Given the description of an element on the screen output the (x, y) to click on. 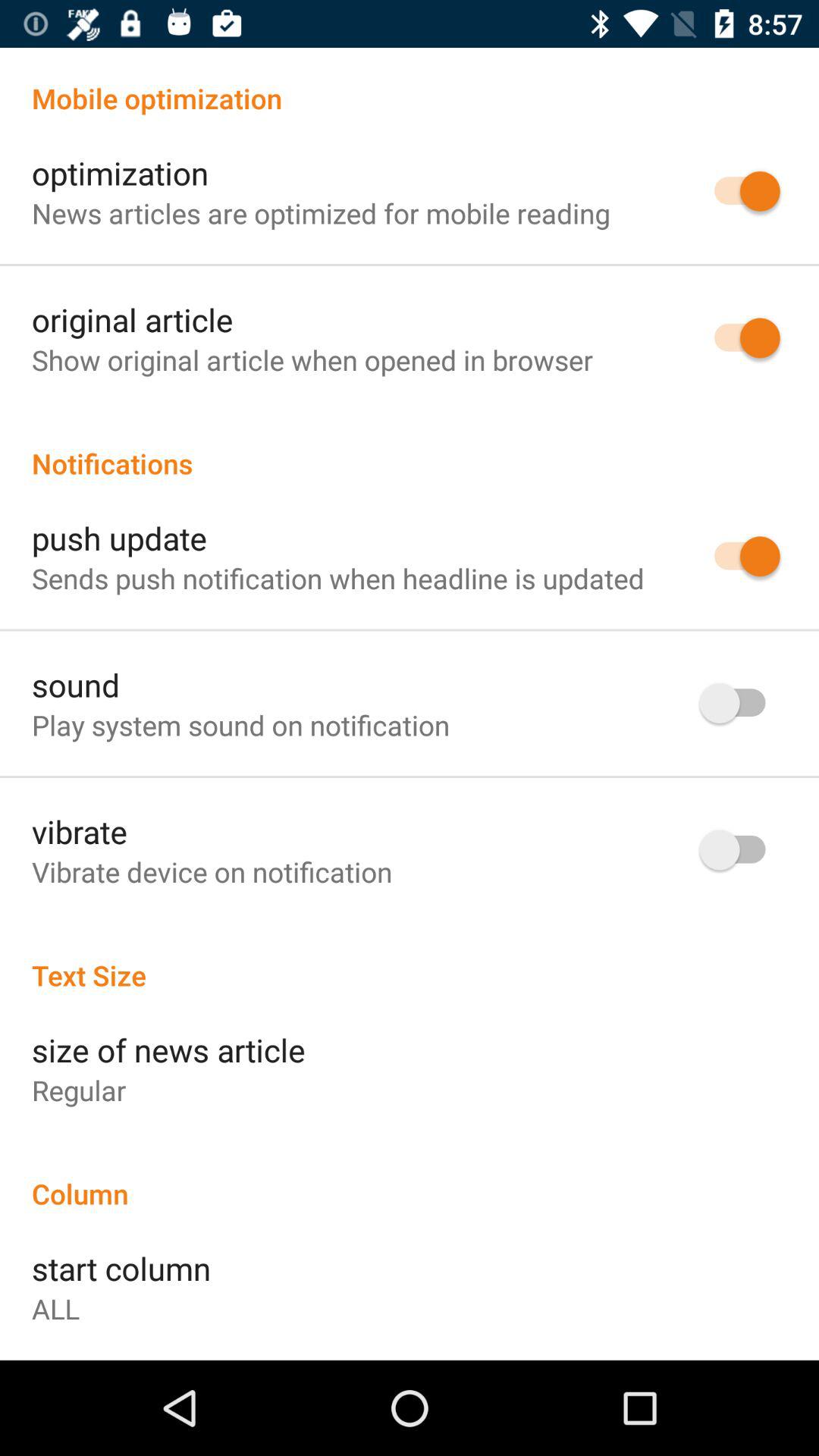
flip to the notifications (409, 447)
